Given the description of an element on the screen output the (x, y) to click on. 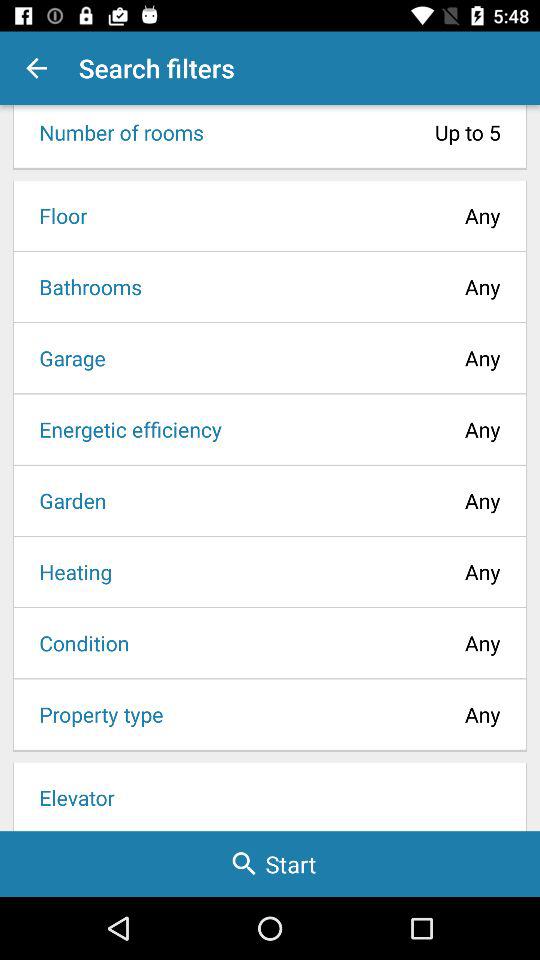
tap icon next to any item (84, 286)
